Given the description of an element on the screen output the (x, y) to click on. 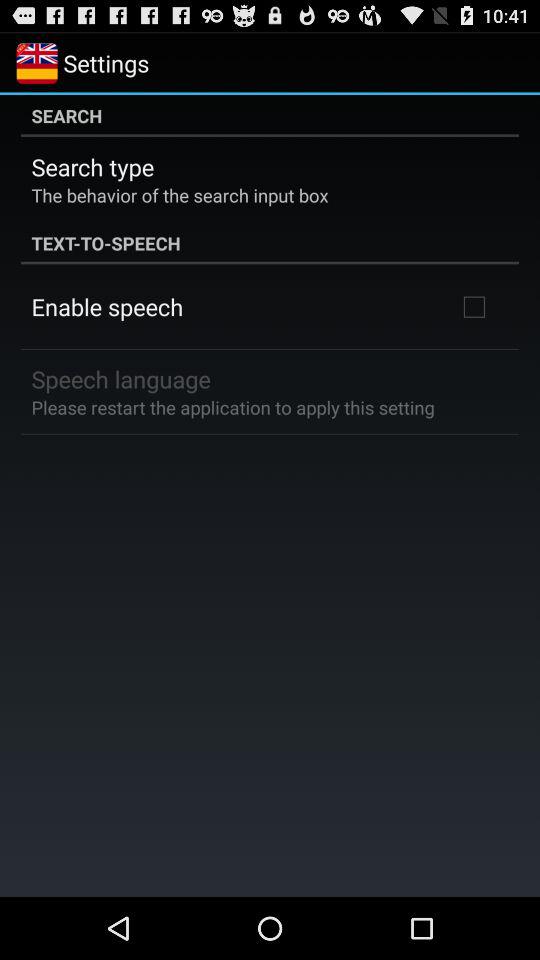
tap the item at the top right corner (474, 306)
